Given the description of an element on the screen output the (x, y) to click on. 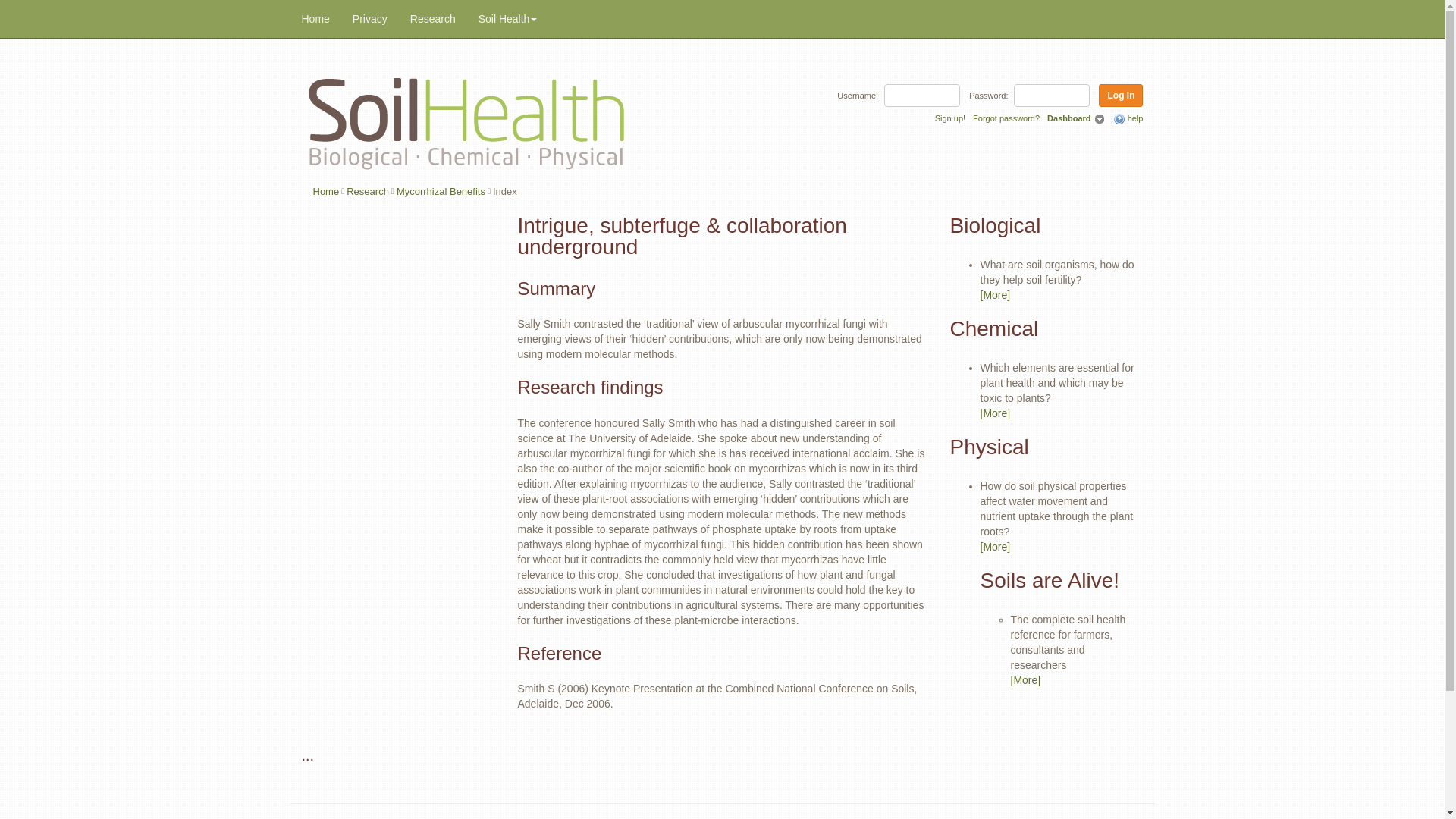
Soil Health (507, 18)
Dashboard (1069, 117)
Forgot password? (1005, 118)
Mycorrhizal Benefits (440, 191)
Log In (1120, 95)
Soil Health -  (467, 114)
Research (432, 18)
help (1127, 119)
Sign up! (949, 118)
Soil Health -  (467, 120)
Research (367, 191)
Home (326, 191)
Home (314, 18)
Privacy (369, 18)
